Given the description of an element on the screen output the (x, y) to click on. 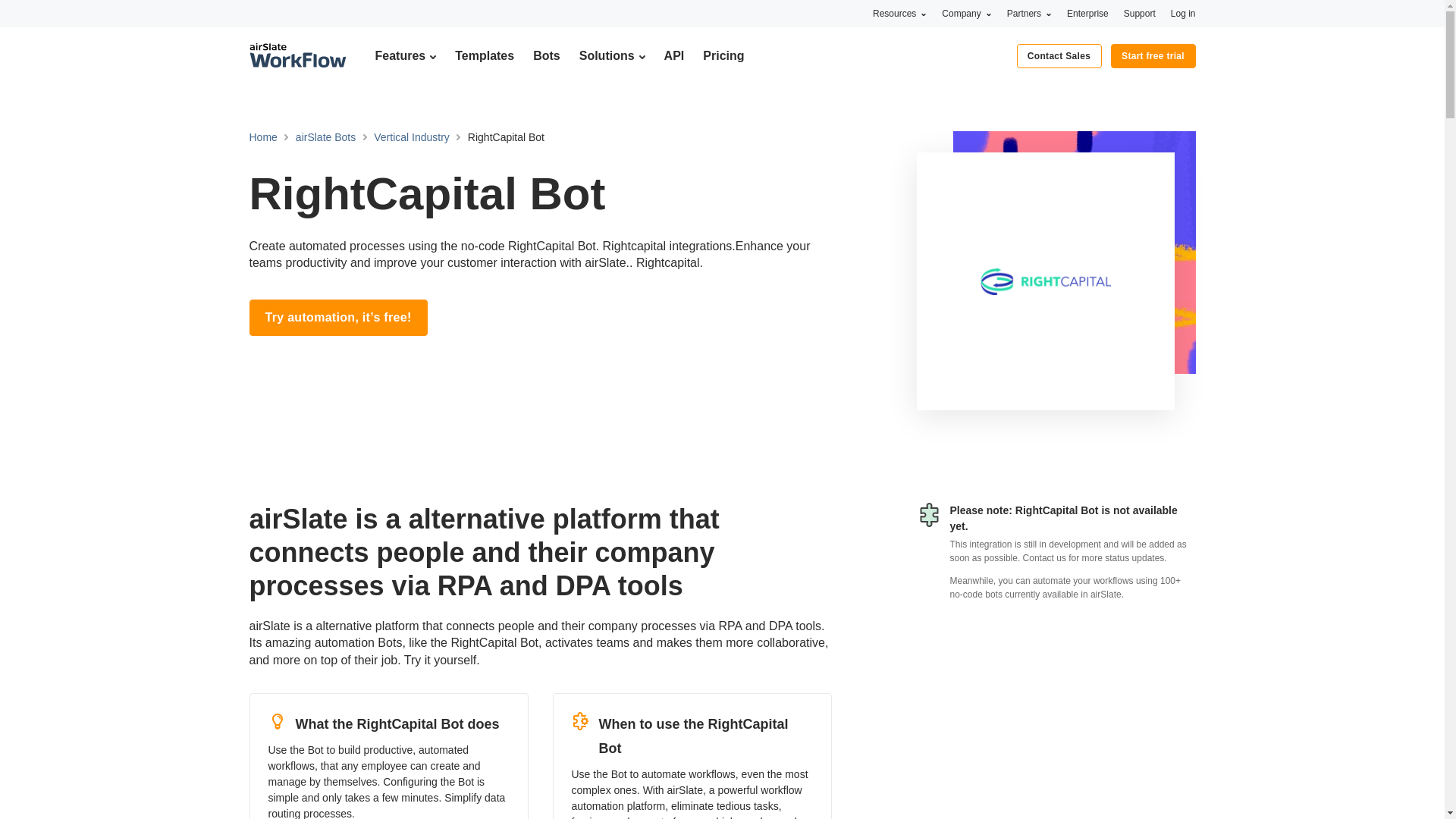
Log in (1182, 13)
Support (1140, 13)
Company (966, 13)
Resources (899, 13)
Templates (483, 55)
Partners (1029, 13)
Enterprise (1087, 13)
